Given the description of an element on the screen output the (x, y) to click on. 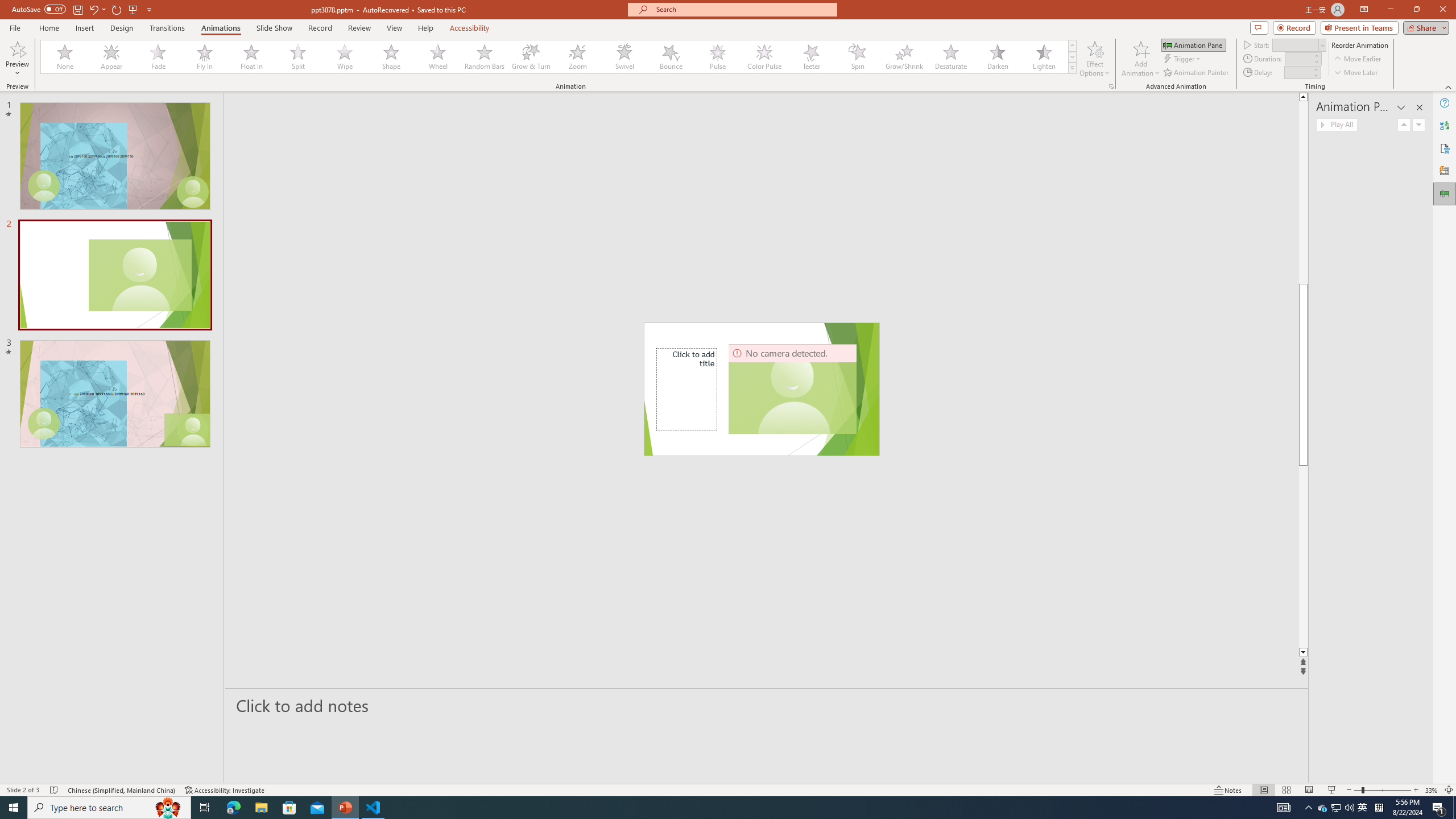
Animation Duration (1298, 58)
